Given the description of an element on the screen output the (x, y) to click on. 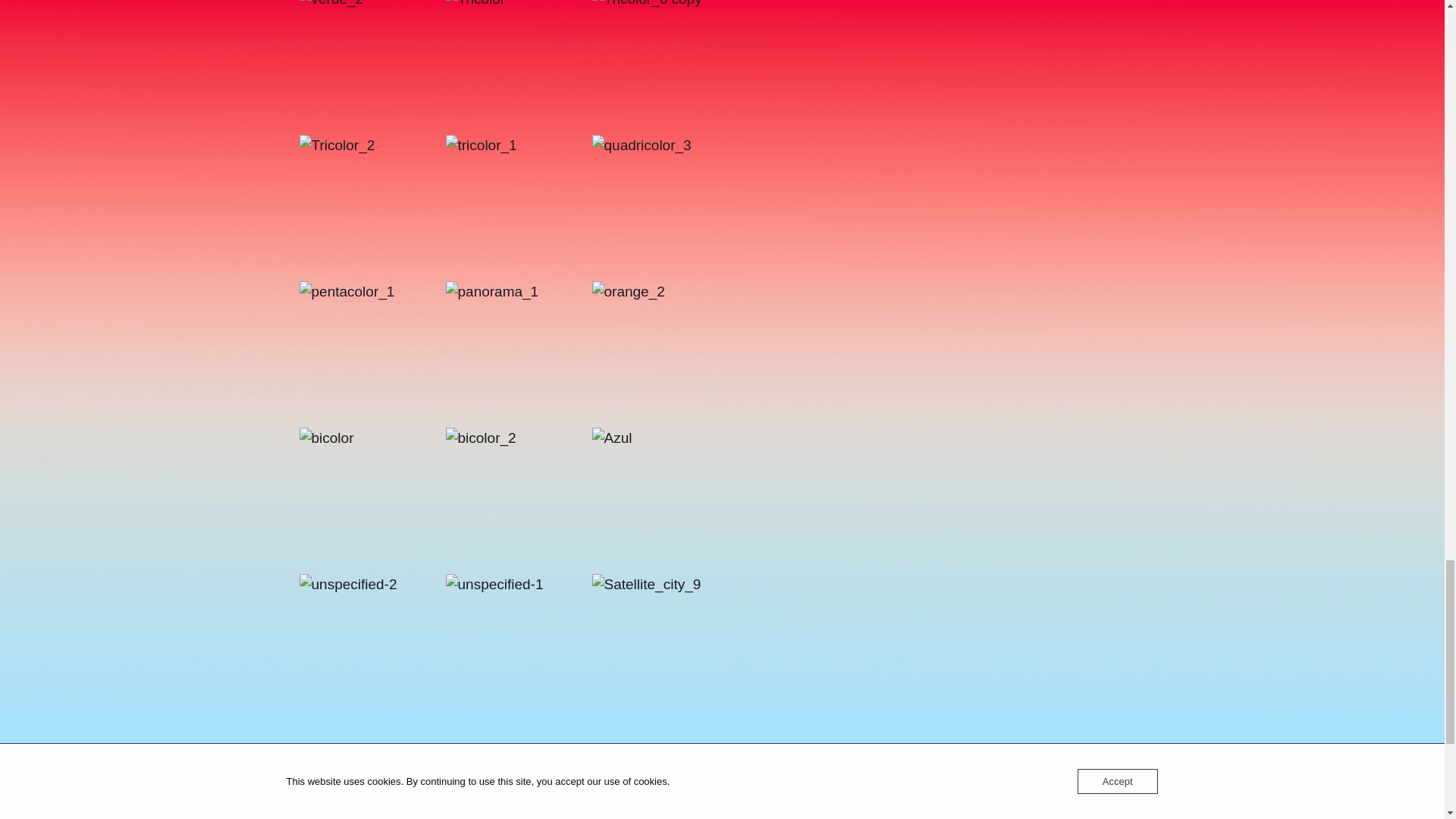
Azul (663, 498)
unspecified-1 (517, 645)
unspecified-2 (370, 645)
Tricolor (517, 65)
bicolor (370, 498)
